Given the description of an element on the screen output the (x, y) to click on. 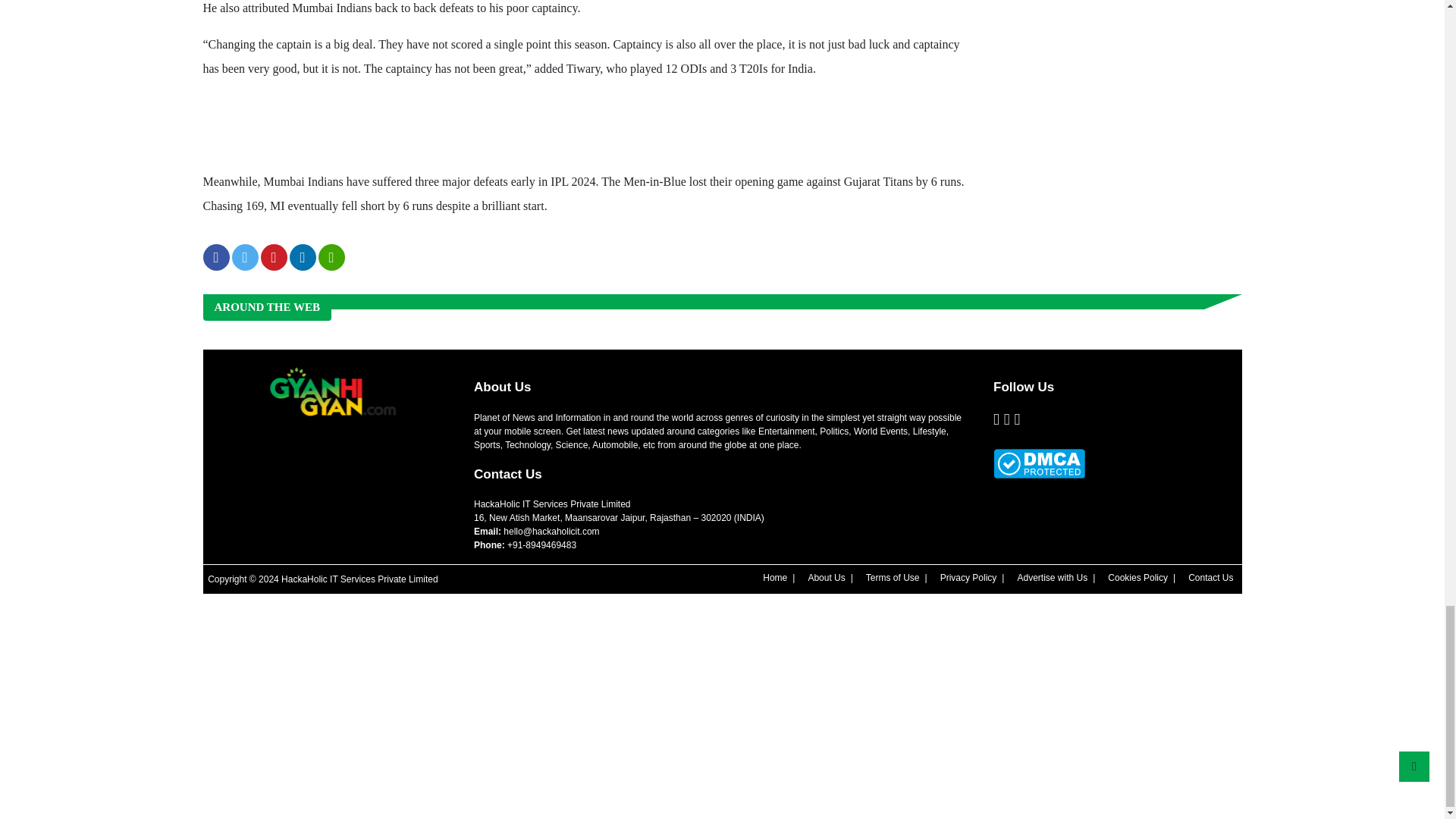
DMCA.com Protection Status (1038, 463)
Advertisement (479, 127)
